Given the description of an element on the screen output the (x, y) to click on. 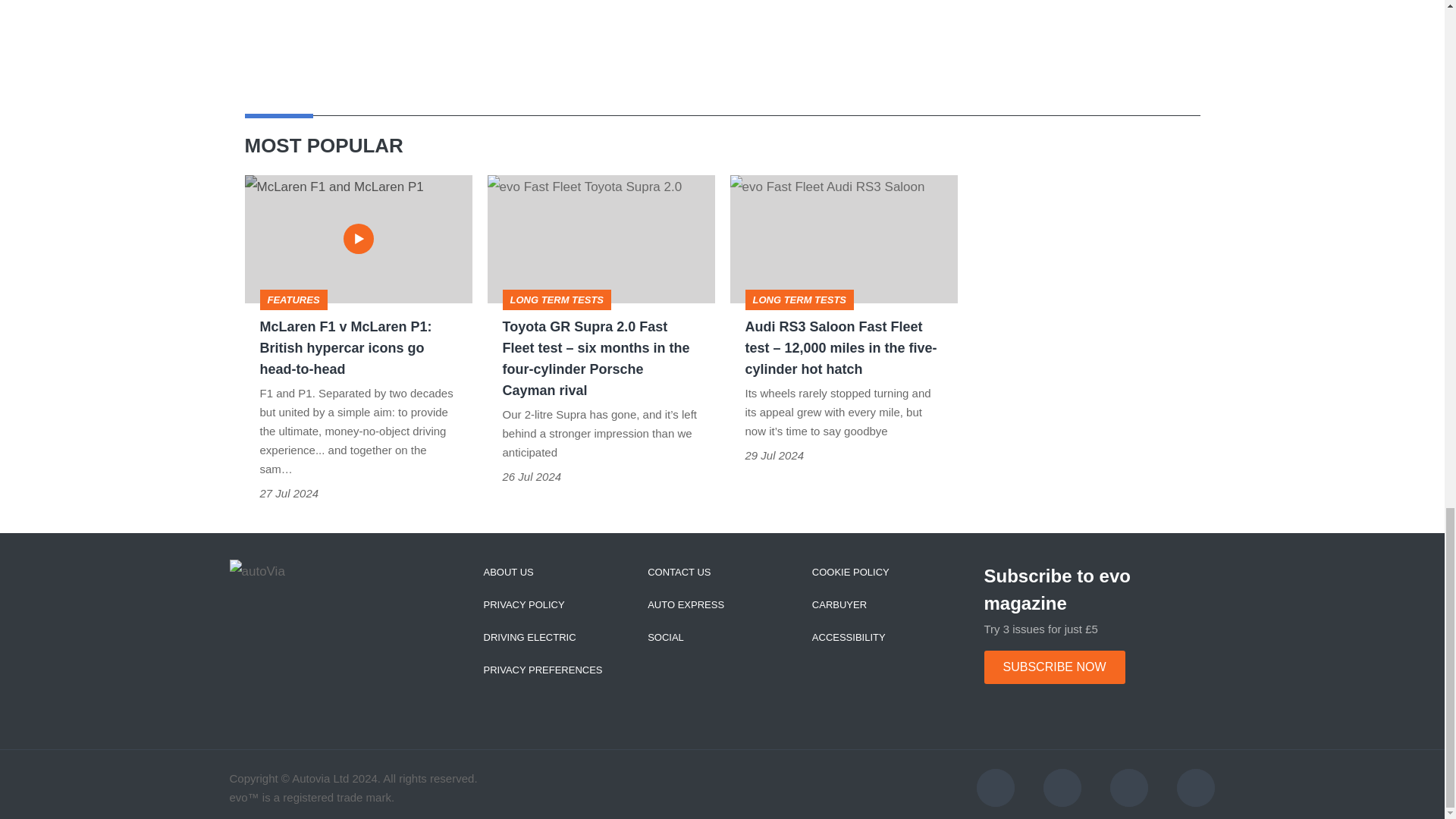
Subscribe now (1054, 666)
